Given the description of an element on the screen output the (x, y) to click on. 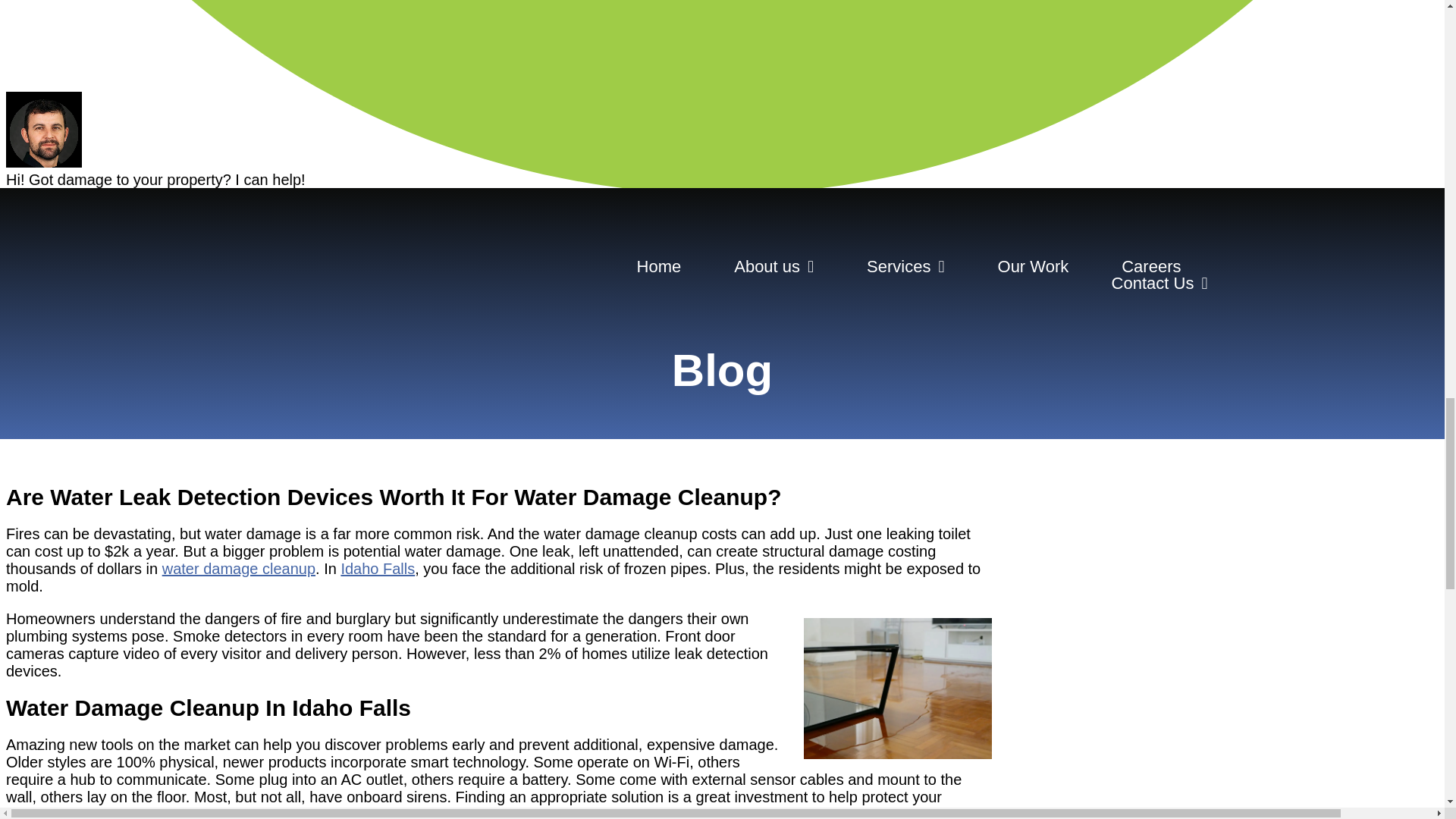
water damage cleanup (238, 568)
About us (773, 266)
Home (659, 266)
Careers (1150, 266)
Contact Us (1160, 283)
Our Work (1032, 266)
Idaho Falls (377, 568)
208-782-4030 (1095, 216)
Services (904, 266)
